Given the description of an element on the screen output the (x, y) to click on. 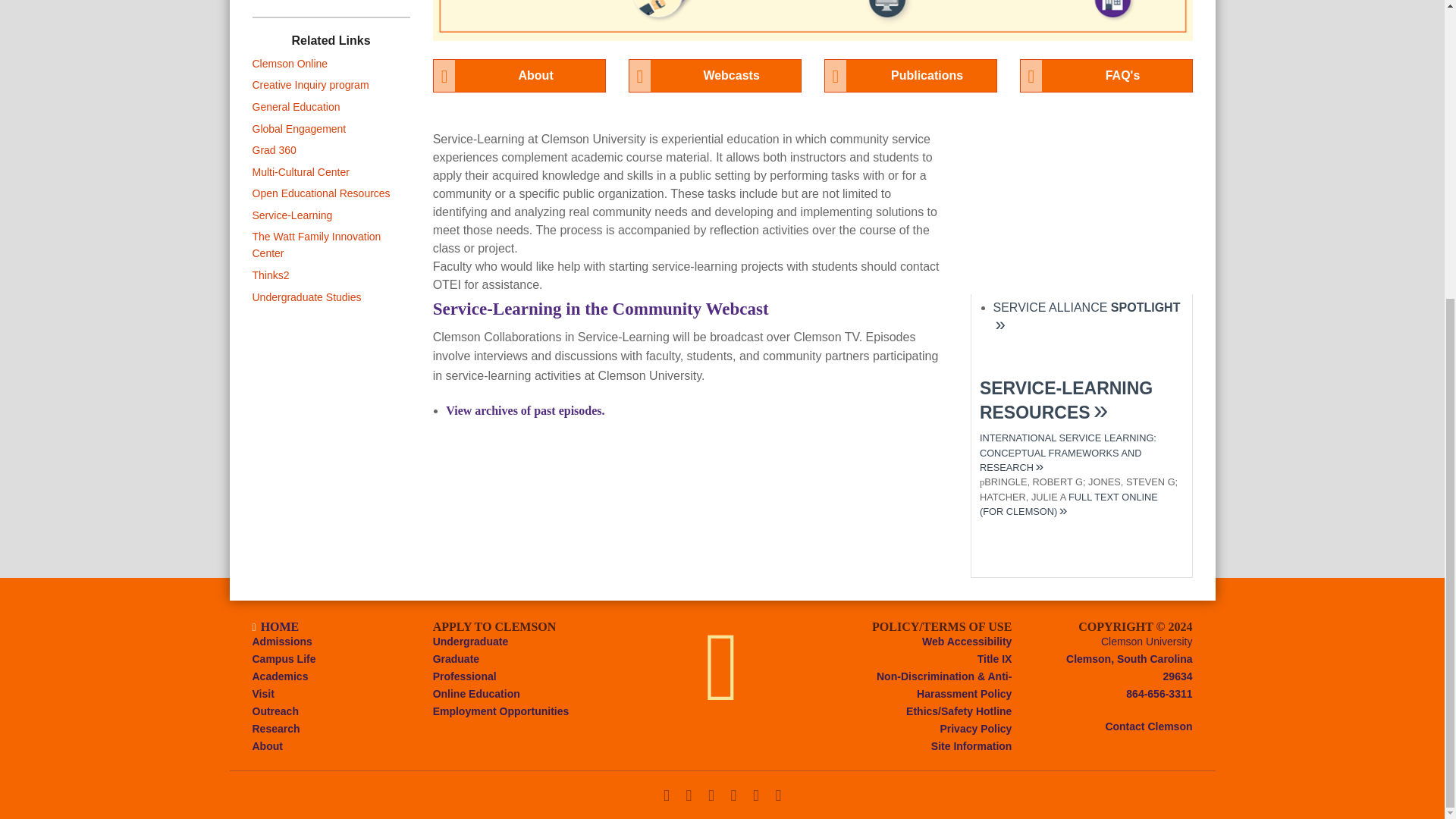
Webcasts (715, 75)
About (518, 75)
Publications (910, 75)
FAQ's (1106, 75)
Webcast Archives (524, 410)
Memory Health, Caring for Self, Caring for Others (1086, 317)
